Given the description of an element on the screen output the (x, y) to click on. 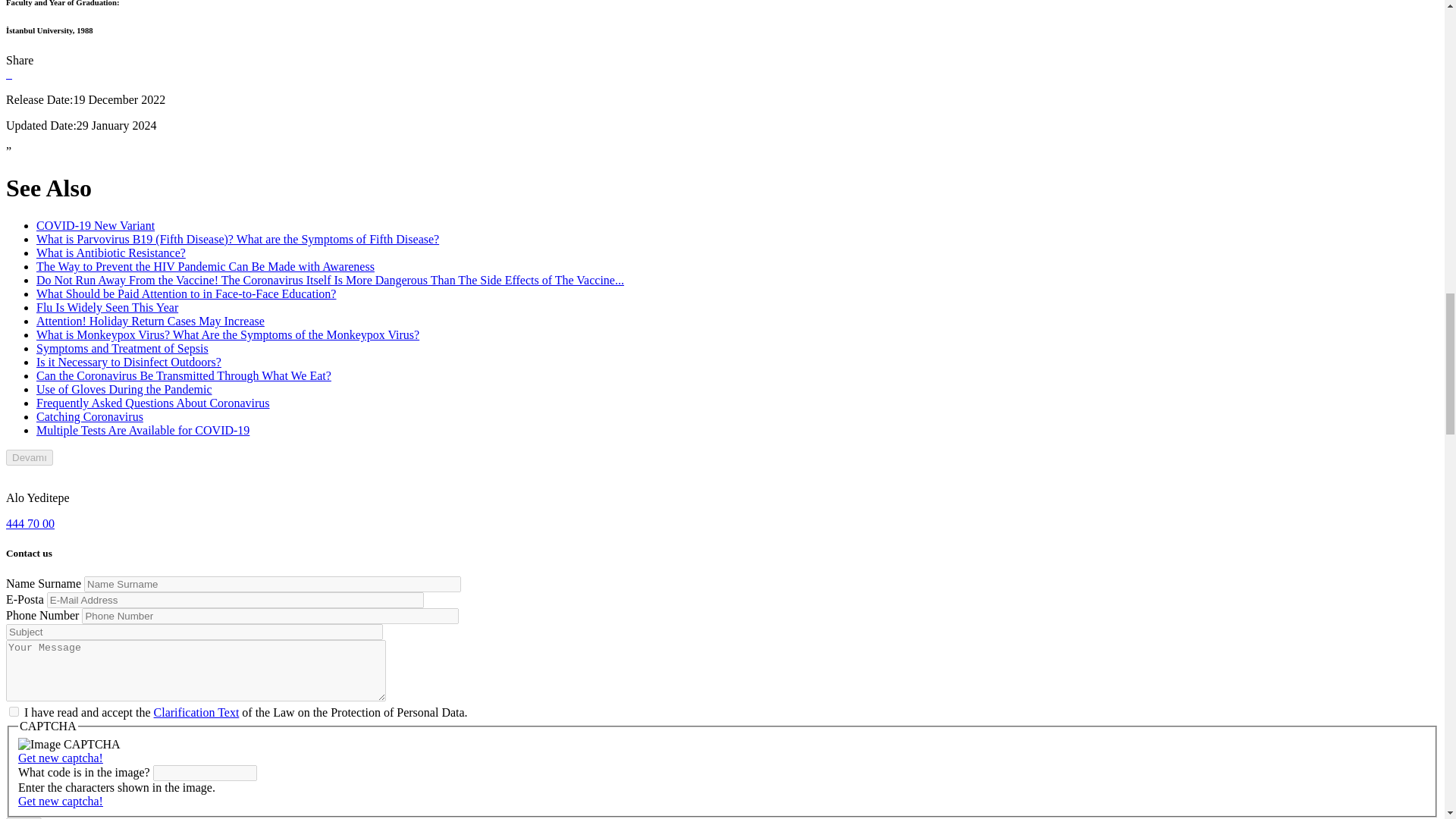
Send (23, 818)
1 (13, 711)
